Given the description of an element on the screen output the (x, y) to click on. 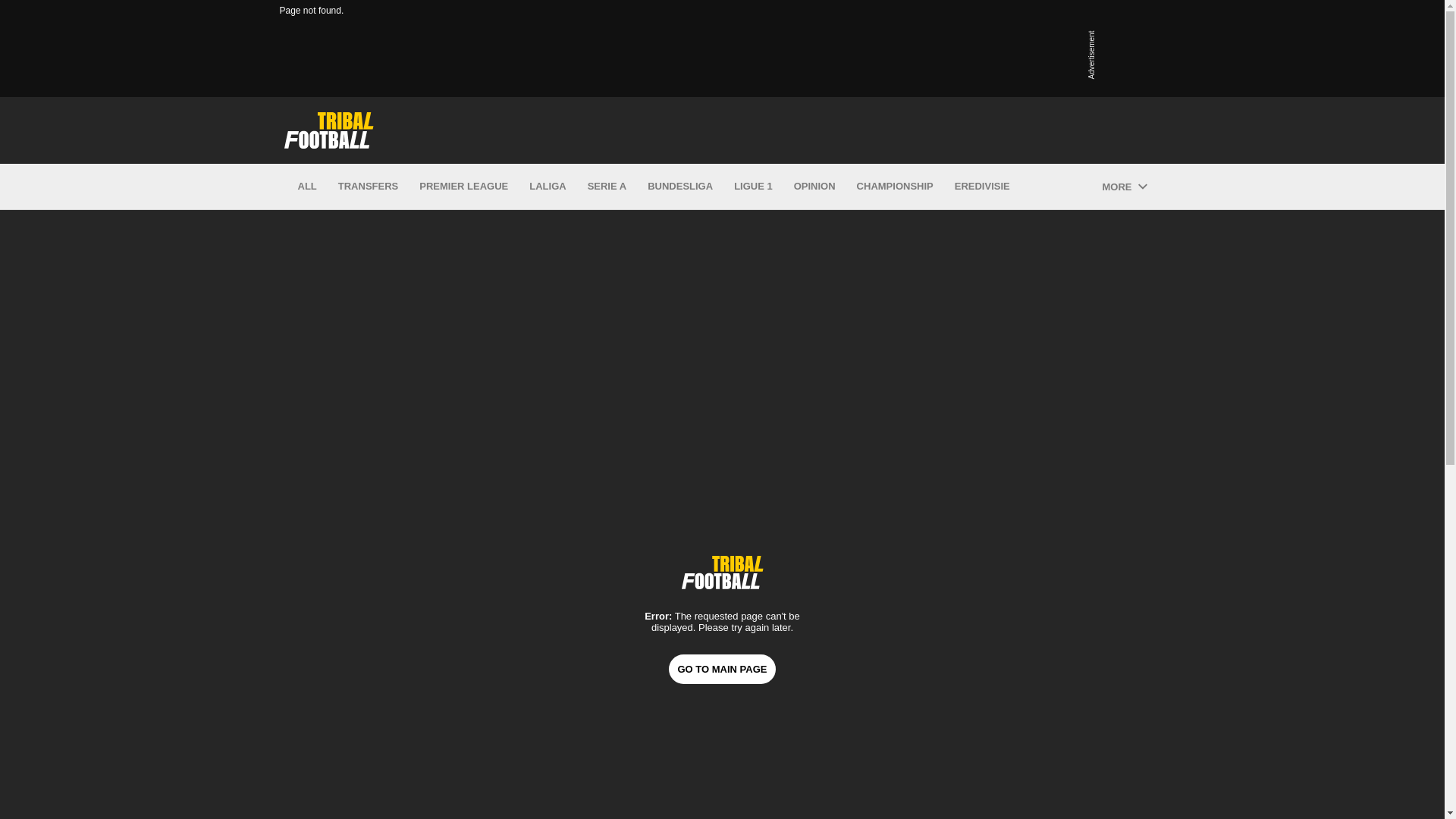
BUNDESLIGA (680, 186)
PREMIER LEAGUE (463, 186)
CHAMPIONSHIP (895, 186)
GO TO MAIN PAGE (722, 668)
TRANSFERS (367, 186)
EREDIVISIE (982, 186)
MORE (1124, 186)
OPINION (814, 186)
